Given the description of an element on the screen output the (x, y) to click on. 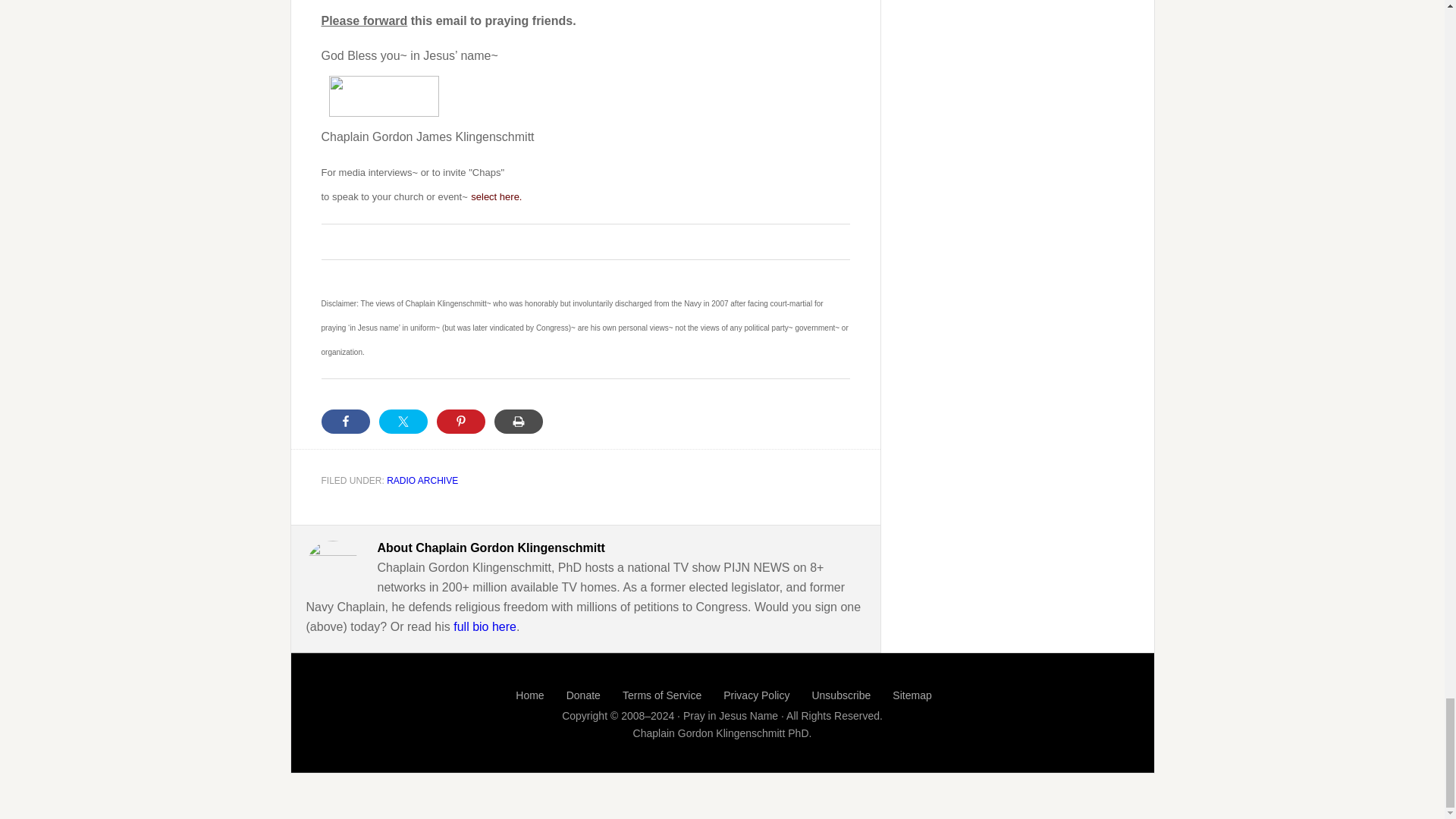
Share on Twitter (403, 421)
Print this Page (519, 421)
Chaplain Gordon Klingenschmitt biography (484, 626)
Share on Pinterest (460, 421)
Share on Facebook (345, 421)
